Given the description of an element on the screen output the (x, y) to click on. 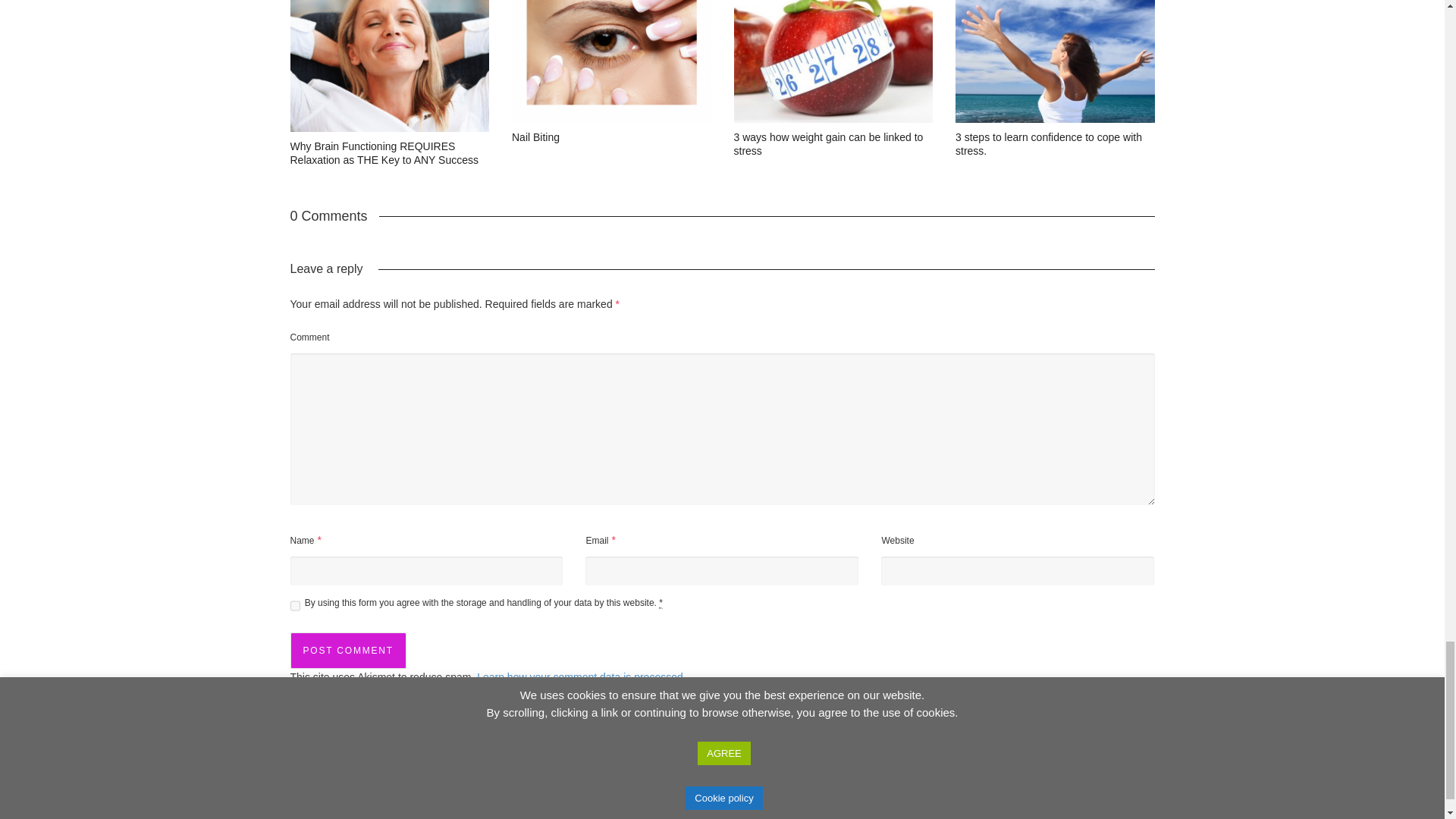
Permanent Link to Nail Biting (535, 137)
Post comment (347, 650)
